Given the description of an element on the screen output the (x, y) to click on. 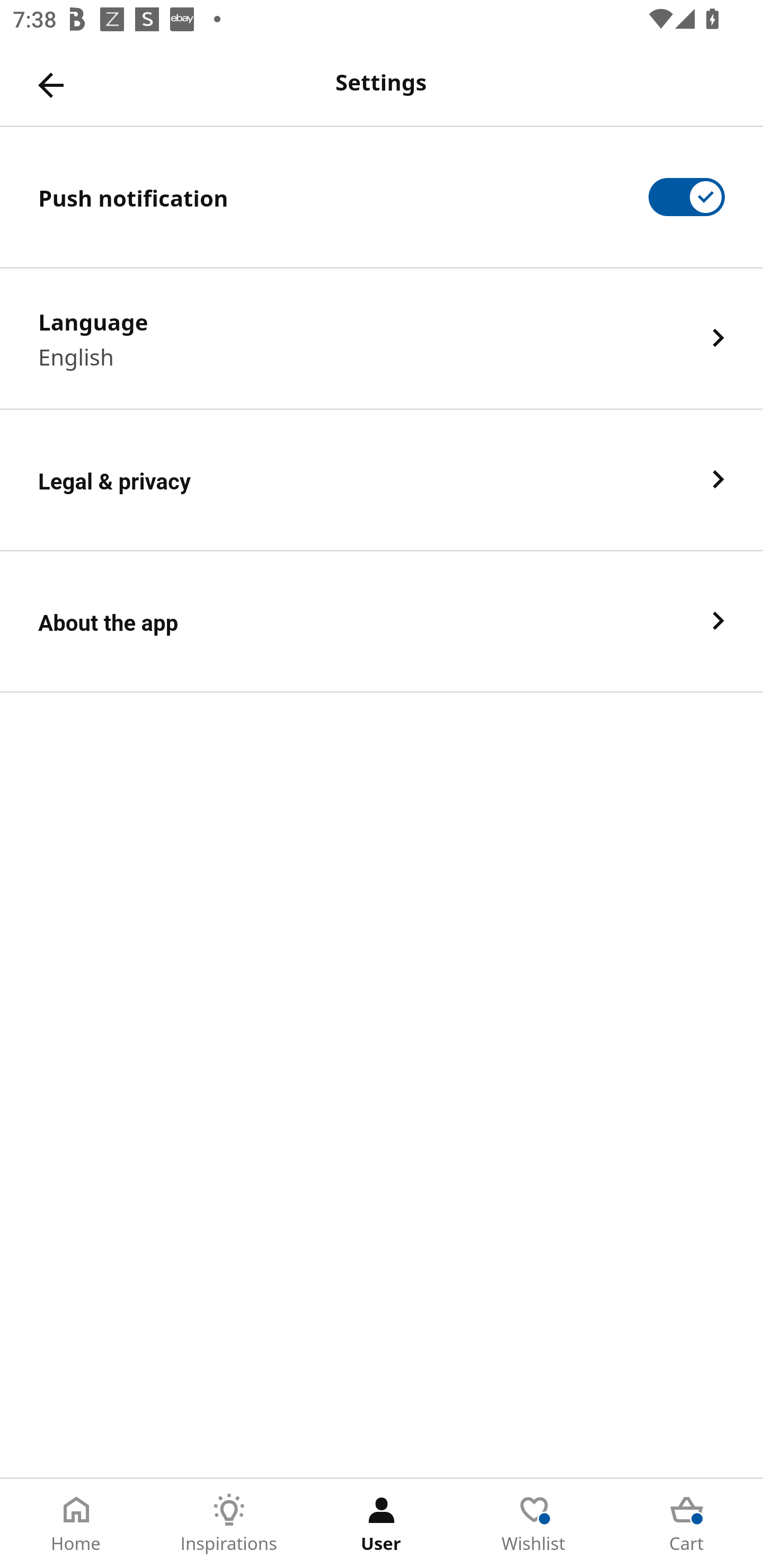
Push notification (381, 196)
Language
English (381, 338)
Legal & privacy (381, 480)
About the app (381, 622)
Home
Tab 1 of 5 (76, 1522)
Inspirations
Tab 2 of 5 (228, 1522)
User
Tab 3 of 5 (381, 1522)
Wishlist
Tab 4 of 5 (533, 1522)
Cart
Tab 5 of 5 (686, 1522)
